Given the description of an element on the screen output the (x, y) to click on. 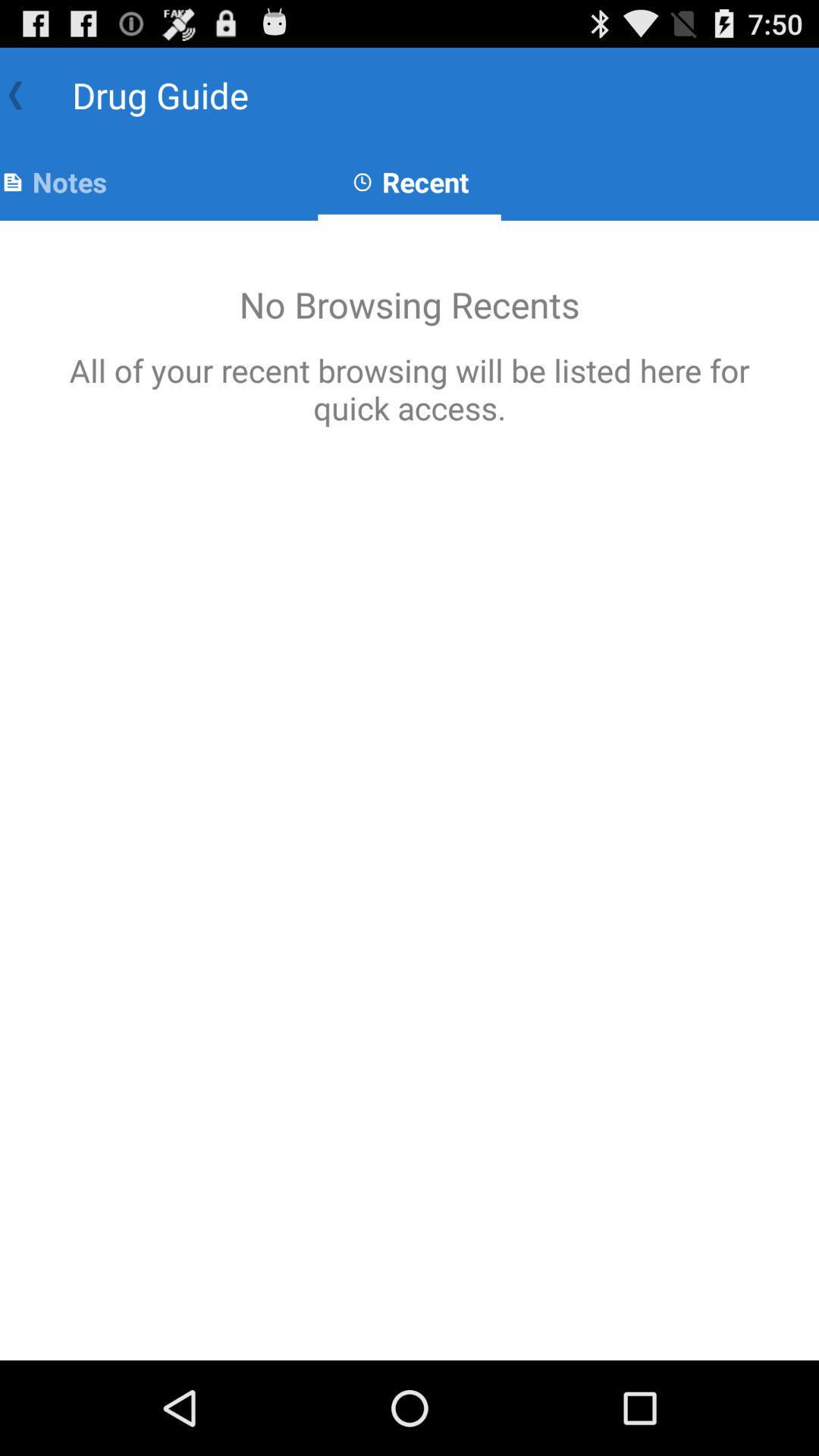
press the app below   notes (409, 790)
